Given the description of an element on the screen output the (x, y) to click on. 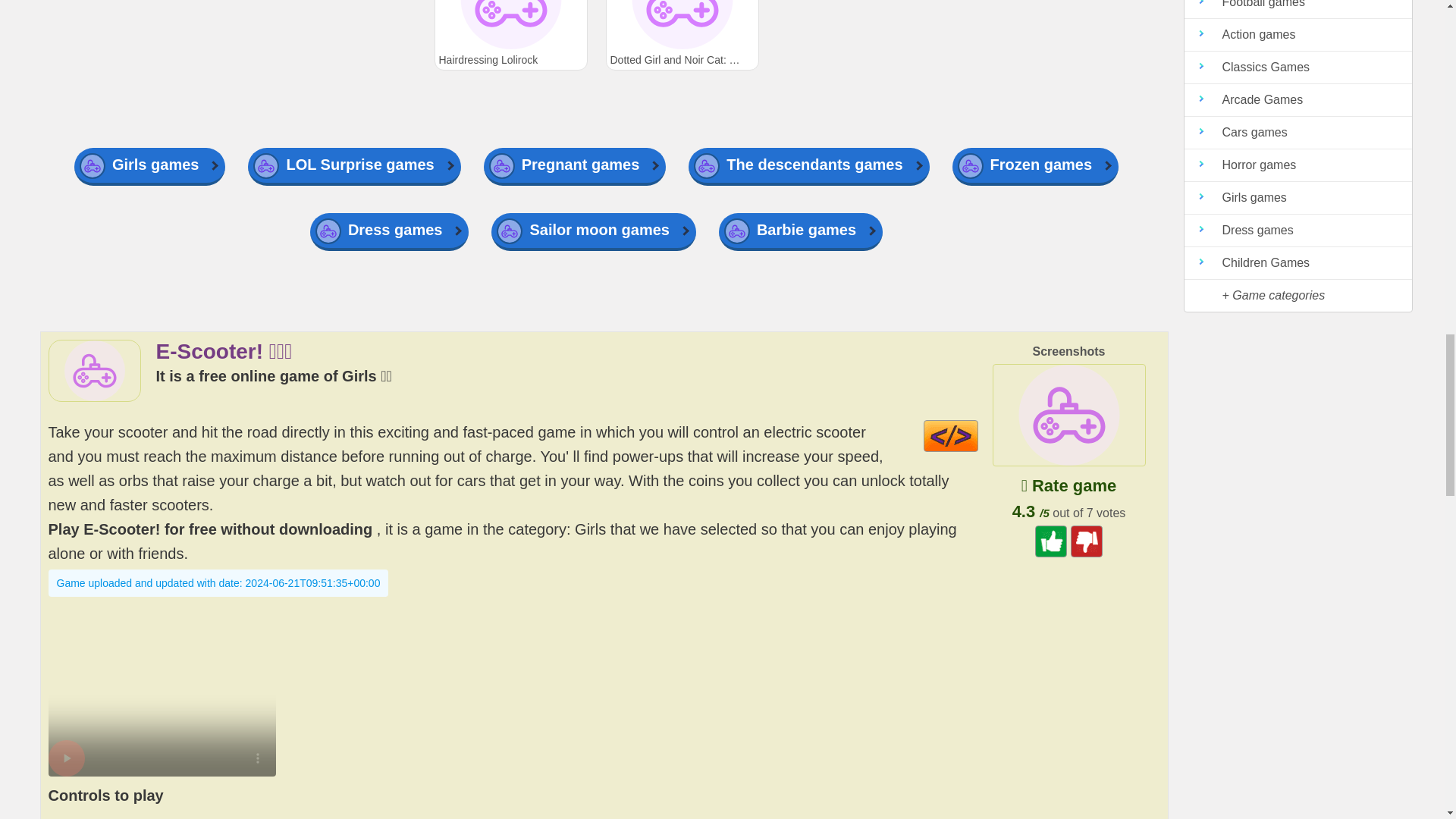
Football games (1298, 9)
